Given the description of an element on the screen output the (x, y) to click on. 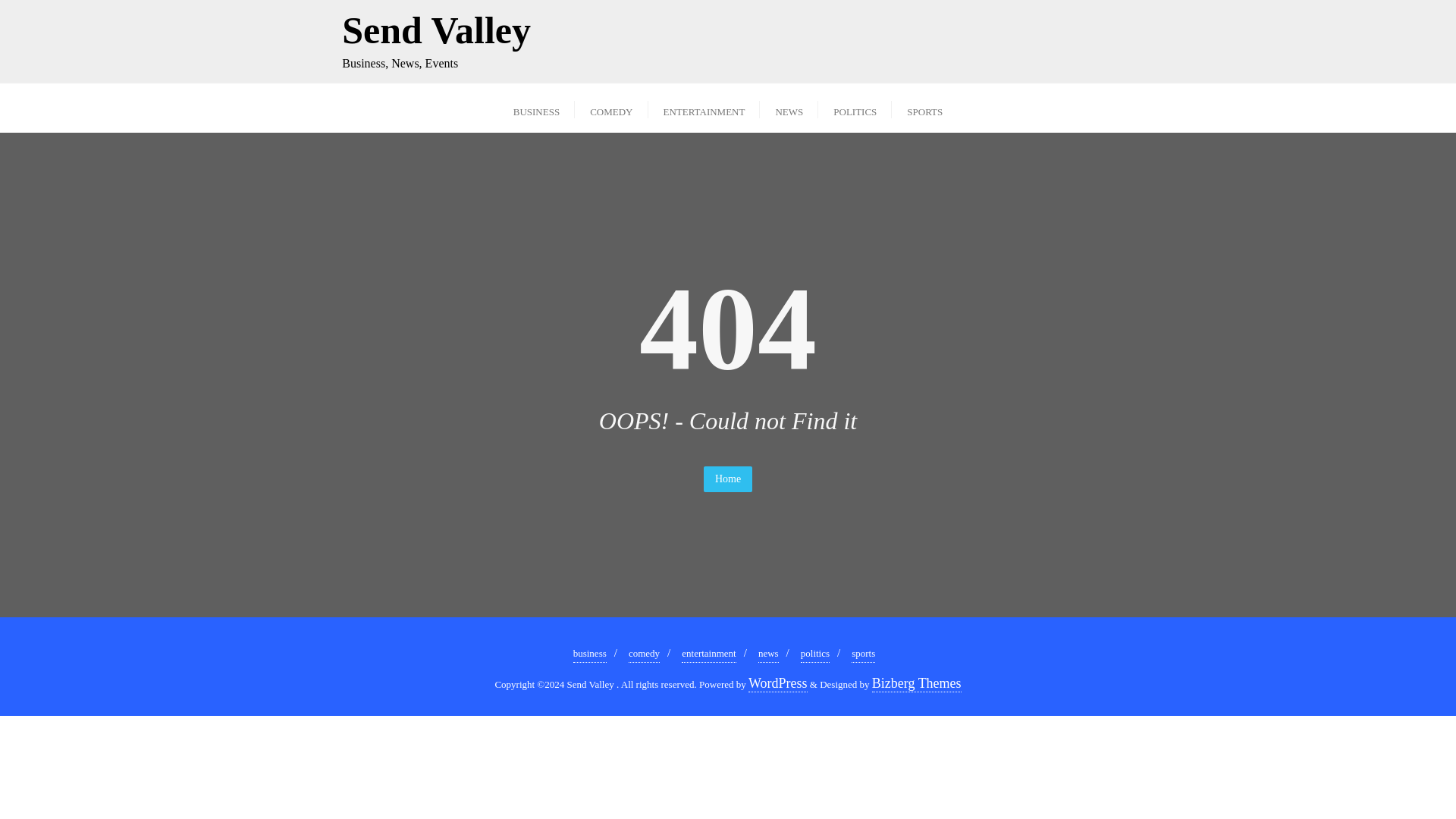
BUSINESS (536, 107)
COMEDY (611, 107)
POLITICS (854, 107)
entertainment (708, 653)
news (768, 653)
business (590, 653)
NEWS (789, 107)
SPORTS (924, 107)
Home (727, 479)
